Given the description of an element on the screen output the (x, y) to click on. 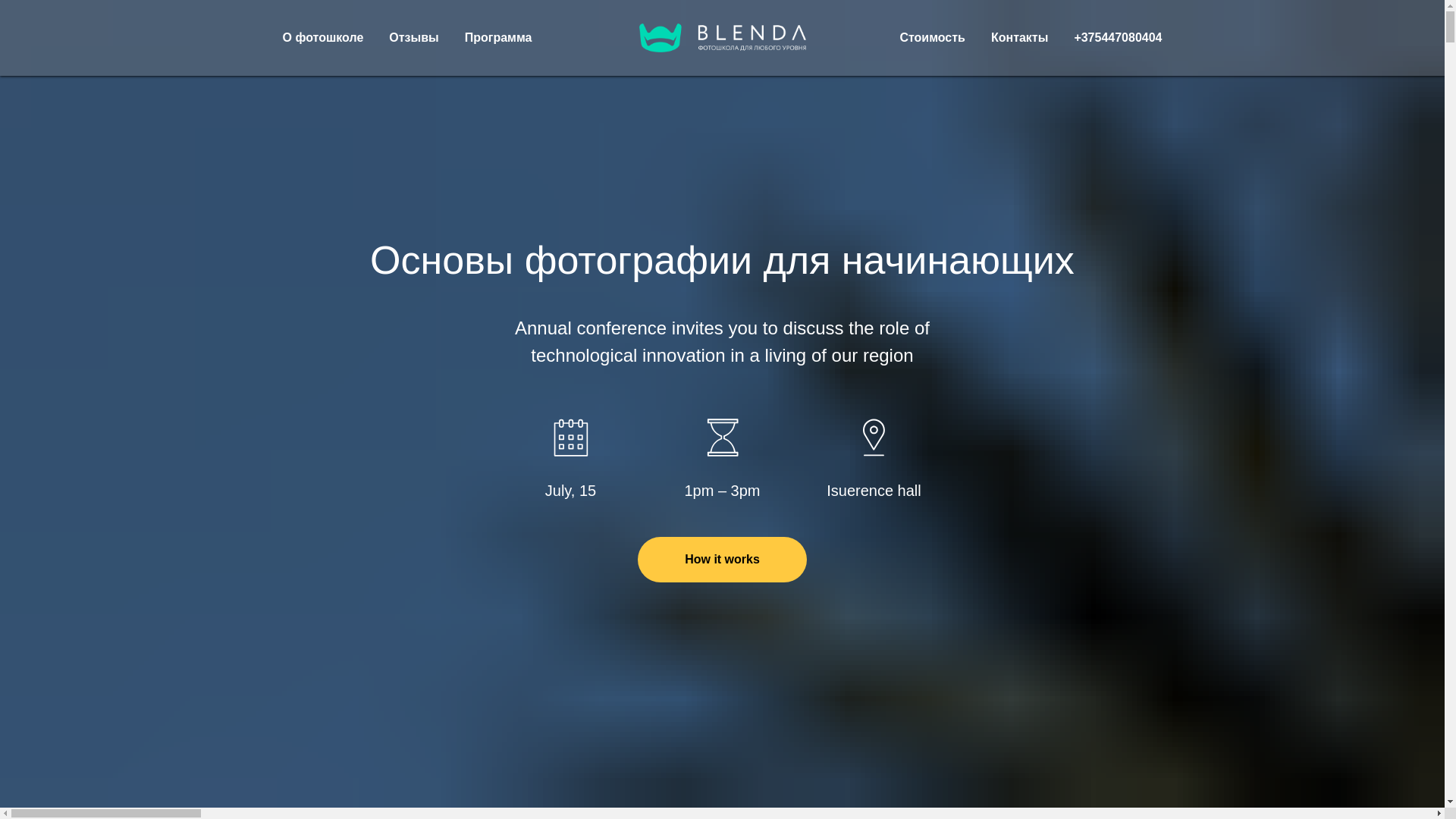
+375447080404 Element type: text (1117, 37)
How it works Element type: text (721, 559)
